Given the description of an element on the screen output the (x, y) to click on. 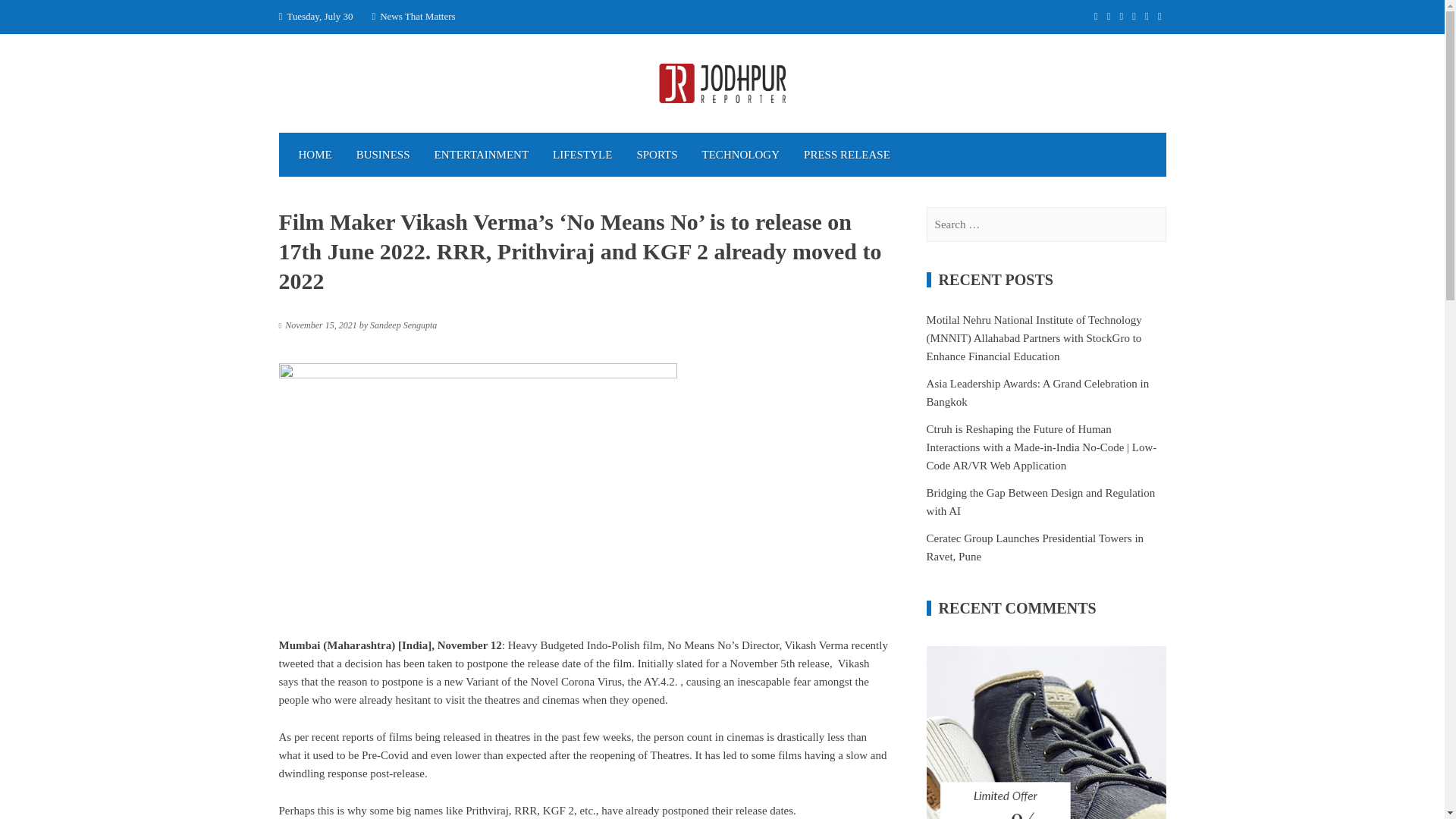
BUSINESS (382, 154)
LIFESTYLE (582, 154)
Search (30, 16)
Ceratec Group Launches Presidential Towers in Ravet, Pune (1035, 547)
Asia Leadership Awards: A Grand Celebration in Bangkok (1038, 392)
Bridging the Gap Between Design and Regulation with AI (1041, 501)
TECHNOLOGY (741, 154)
HOME (314, 154)
SPORTS (656, 154)
ENTERTAINMENT (481, 154)
PRESS RELEASE (847, 154)
